Given the description of an element on the screen output the (x, y) to click on. 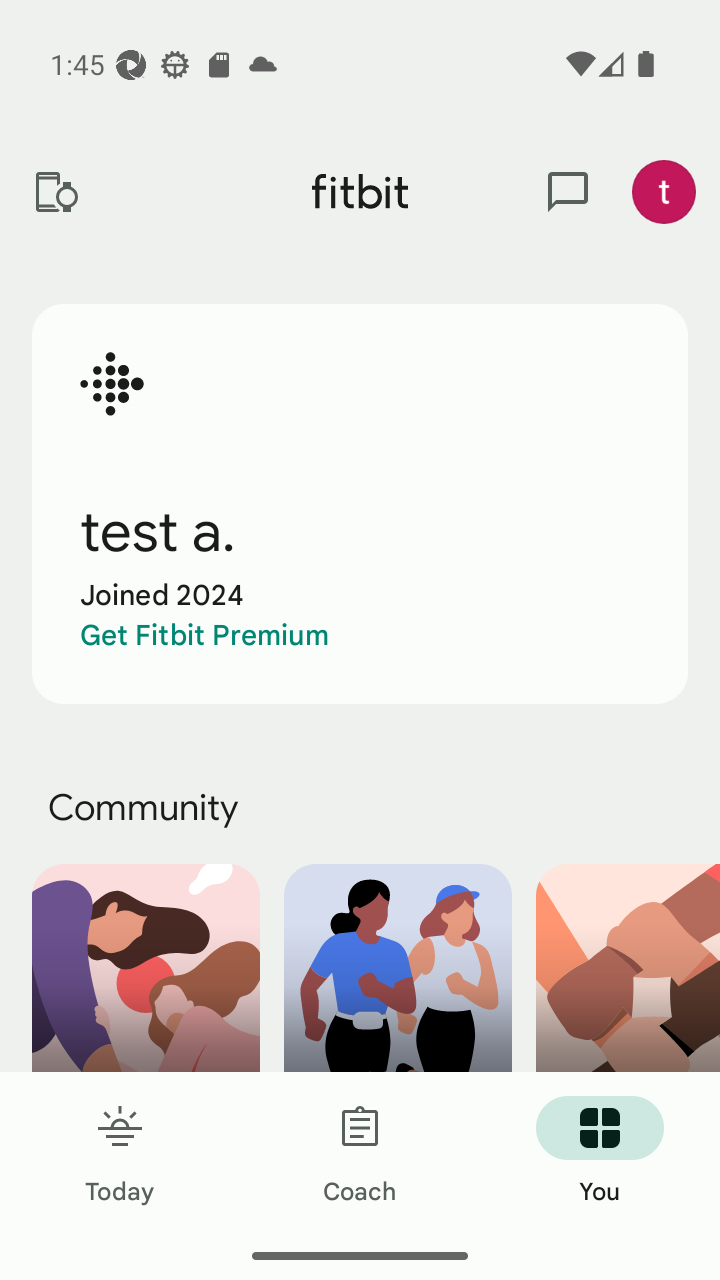
Devices and apps (55, 191)
messages and notifications (567, 191)
Get Fitbit Premium (204, 635)
Today (119, 1151)
Coach (359, 1151)
